Given the description of an element on the screen output the (x, y) to click on. 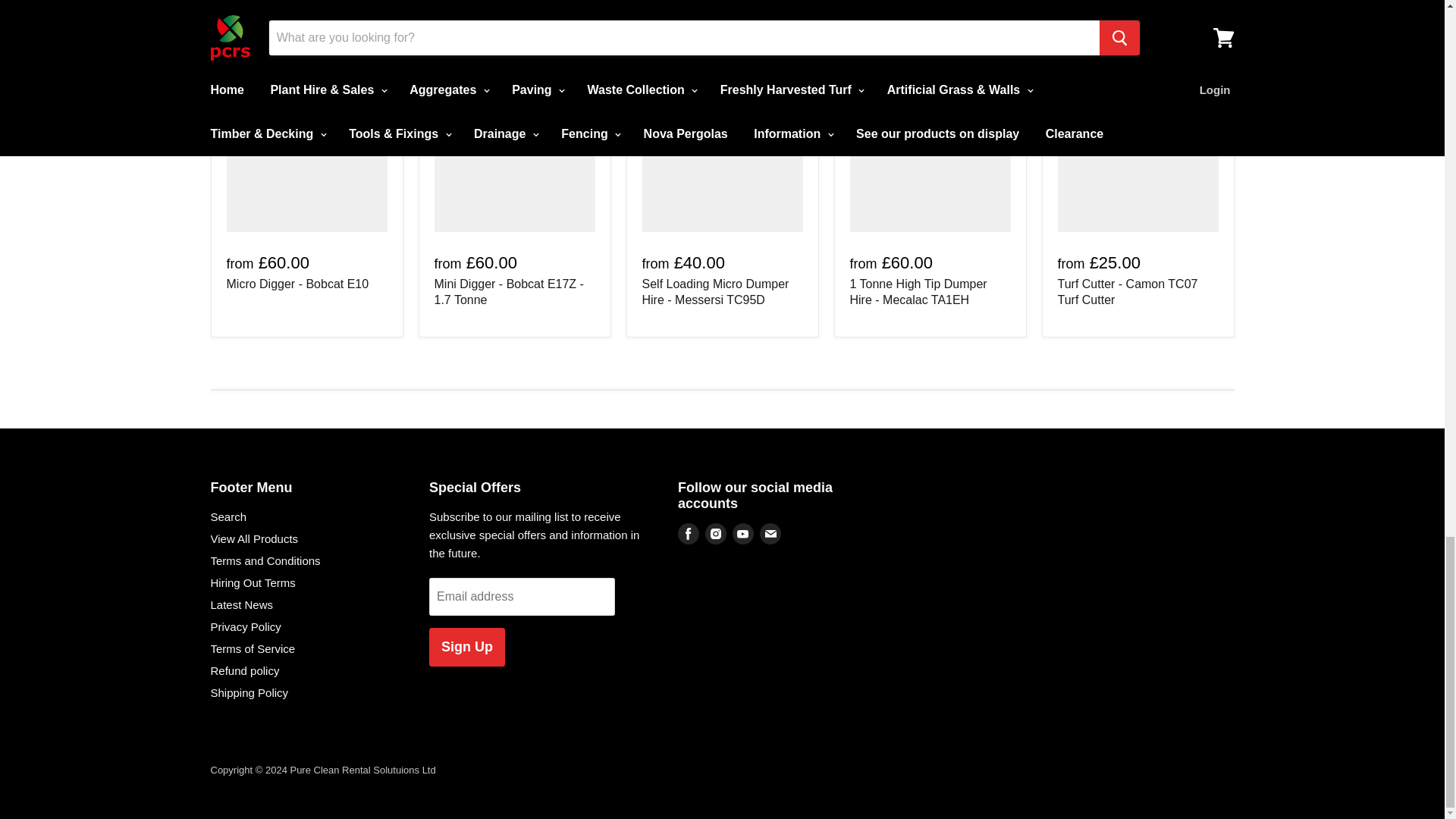
Facebook (688, 533)
Youtube (743, 533)
E-mail (770, 533)
Instagram (715, 533)
